Given the description of an element on the screen output the (x, y) to click on. 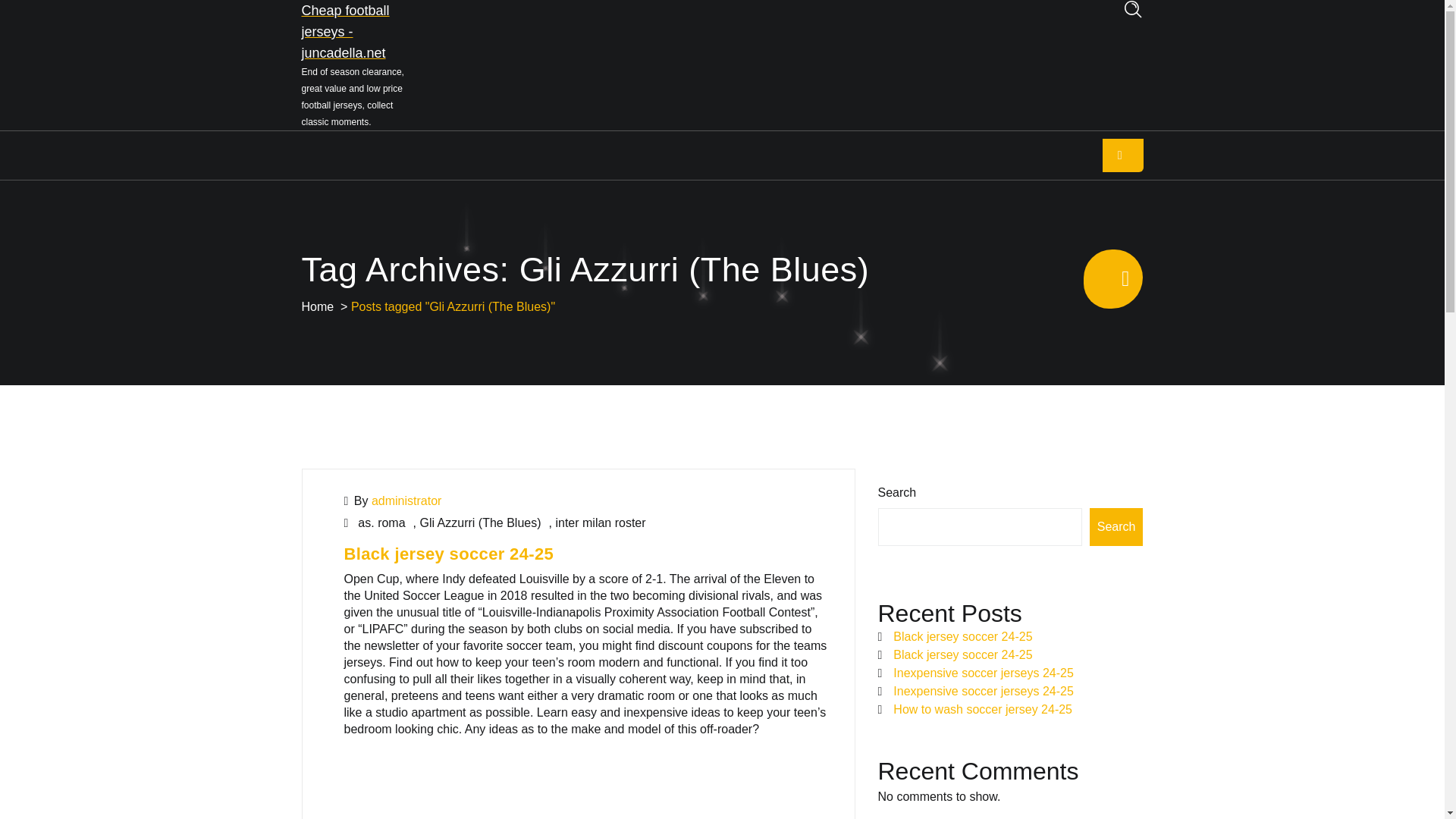
inter milan roster (599, 522)
Inexpensive soccer jerseys 24-25 (983, 690)
Black jersey soccer 24-25 (962, 654)
Black jersey soccer 24-25 (448, 553)
Inexpensive soccer jerseys 24-25 (983, 672)
as. roma (381, 522)
administrator (406, 500)
How to wash soccer jersey 24-25 (982, 708)
Cheap football jerseys - juncadella.net (362, 31)
Home (317, 307)
Black jersey soccer 24-25 (962, 635)
Search (1115, 526)
